Given the description of an element on the screen output the (x, y) to click on. 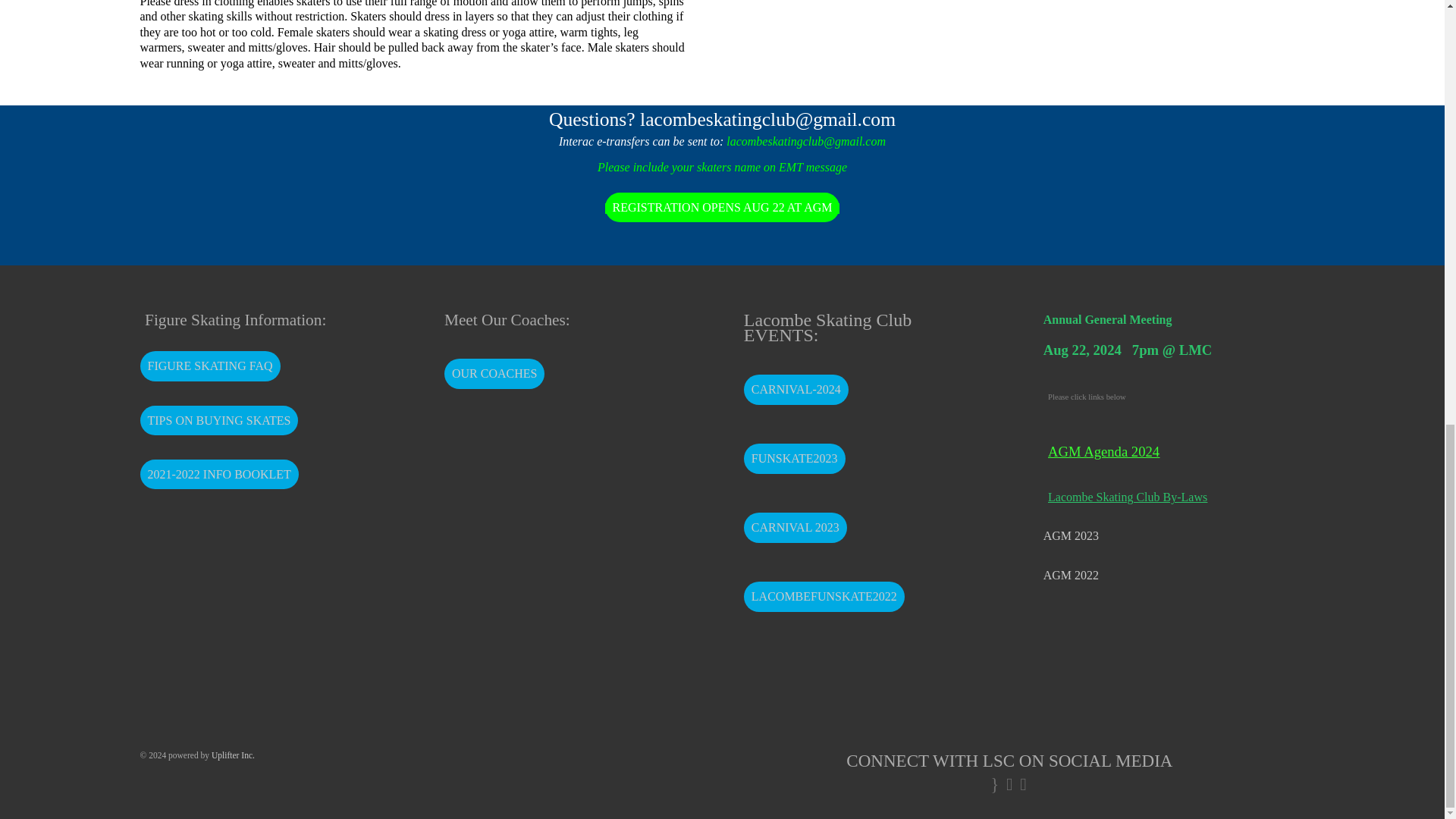
Instagram (1010, 782)
Twitter (1023, 782)
Facebook (995, 782)
OUR COACHES (494, 373)
2021-2022 INFO BOOKLET (218, 474)
Lacombe Skating Club By-Laws (1162, 497)
FUNSKATE2023 (794, 458)
CARNIVAL-2024 (796, 389)
LACOMBEFUNSKATE2022 (824, 596)
Funskate 2023 (794, 458)
REGISTRATION OPENS AUG 22 AT AGM (722, 207)
AGM 2023 (1071, 535)
CARNIVAL 2023 (795, 527)
